Given the description of an element on the screen output the (x, y) to click on. 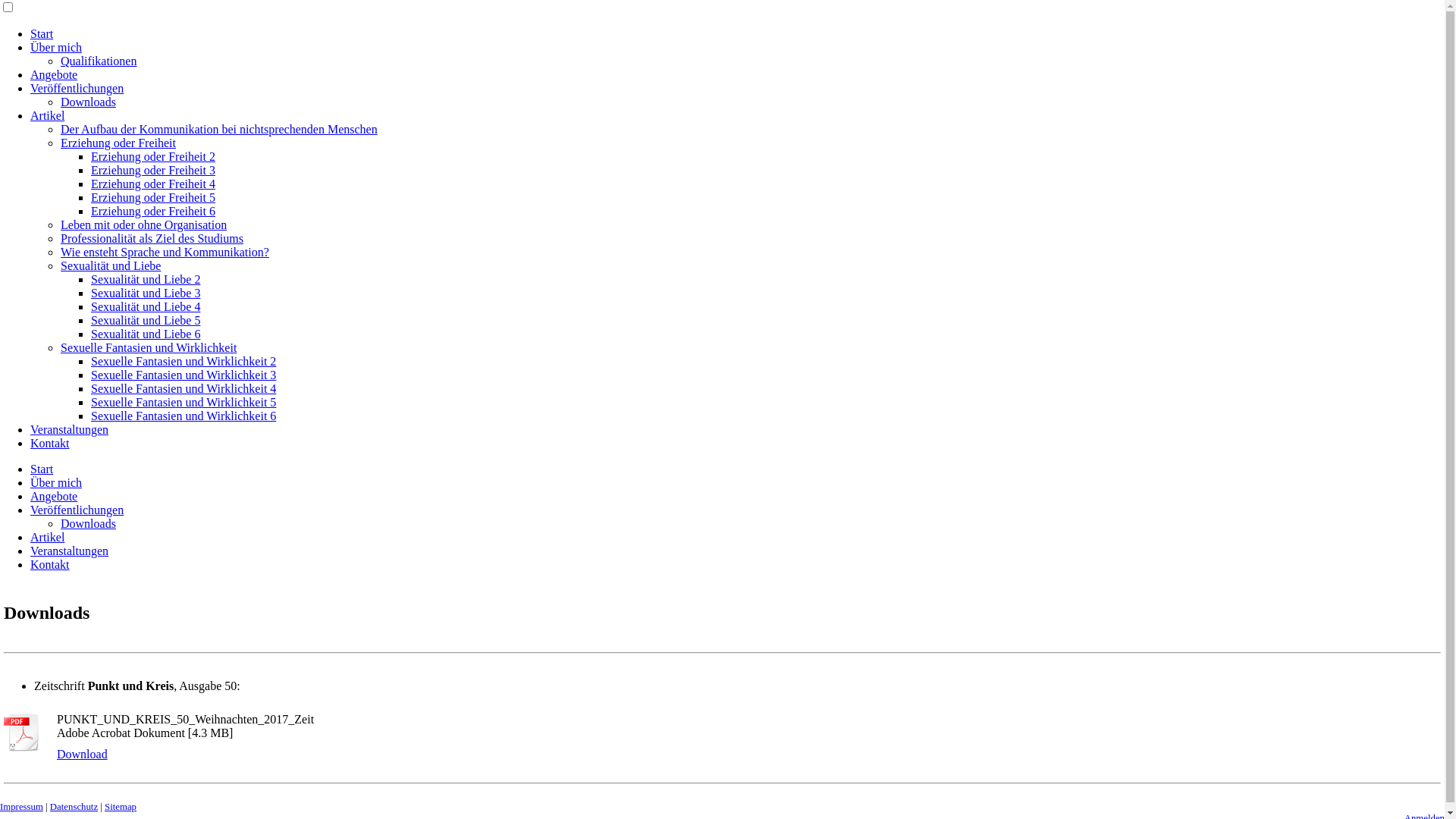
Der Aufbau der Kommunikation bei nichtsprechenden Menschen Element type: text (218, 128)
Qualifikationen Element type: text (98, 60)
Erziehung oder Freiheit Element type: text (117, 142)
Artikel Element type: text (47, 536)
Downloads Element type: text (88, 523)
Angebote Element type: text (53, 495)
Sitemap Element type: text (120, 806)
Kontakt Element type: text (49, 564)
Veranstaltungen Element type: text (69, 550)
Erziehung oder Freiheit 3 Element type: text (153, 169)
Wie ensteht Sprache und Kommunikation? Element type: text (164, 251)
Angebote Element type: text (53, 74)
Start Element type: text (41, 468)
Sexuelle Fantasien und Wirklichkeit 3 Element type: text (183, 374)
Veranstaltungen Element type: text (69, 429)
Impressum Element type: text (21, 806)
Datenschutz Element type: text (73, 806)
Start Element type: text (41, 33)
Downloads Element type: text (88, 101)
Sexuelle Fantasien und Wirklichkeit 6 Element type: text (183, 415)
Sexuelle Fantasien und Wirklichkeit 2 Element type: text (183, 360)
Erziehung oder Freiheit 2 Element type: text (153, 156)
Download Element type: text (81, 754)
Erziehung oder Freiheit 5 Element type: text (153, 197)
Leben mit oder ohne Organisation Element type: text (143, 224)
Sexuelle Fantasien und Wirklichkeit 4 Element type: text (183, 388)
Kontakt Element type: text (49, 442)
Erziehung oder Freiheit 6 Element type: text (153, 210)
Sexuelle Fantasien und Wirklichkeit 5 Element type: text (183, 401)
Erziehung oder Freiheit 4 Element type: text (153, 183)
Sexuelle Fantasien und Wirklichkeit Element type: text (148, 347)
Artikel Element type: text (47, 115)
